Given the description of an element on the screen output the (x, y) to click on. 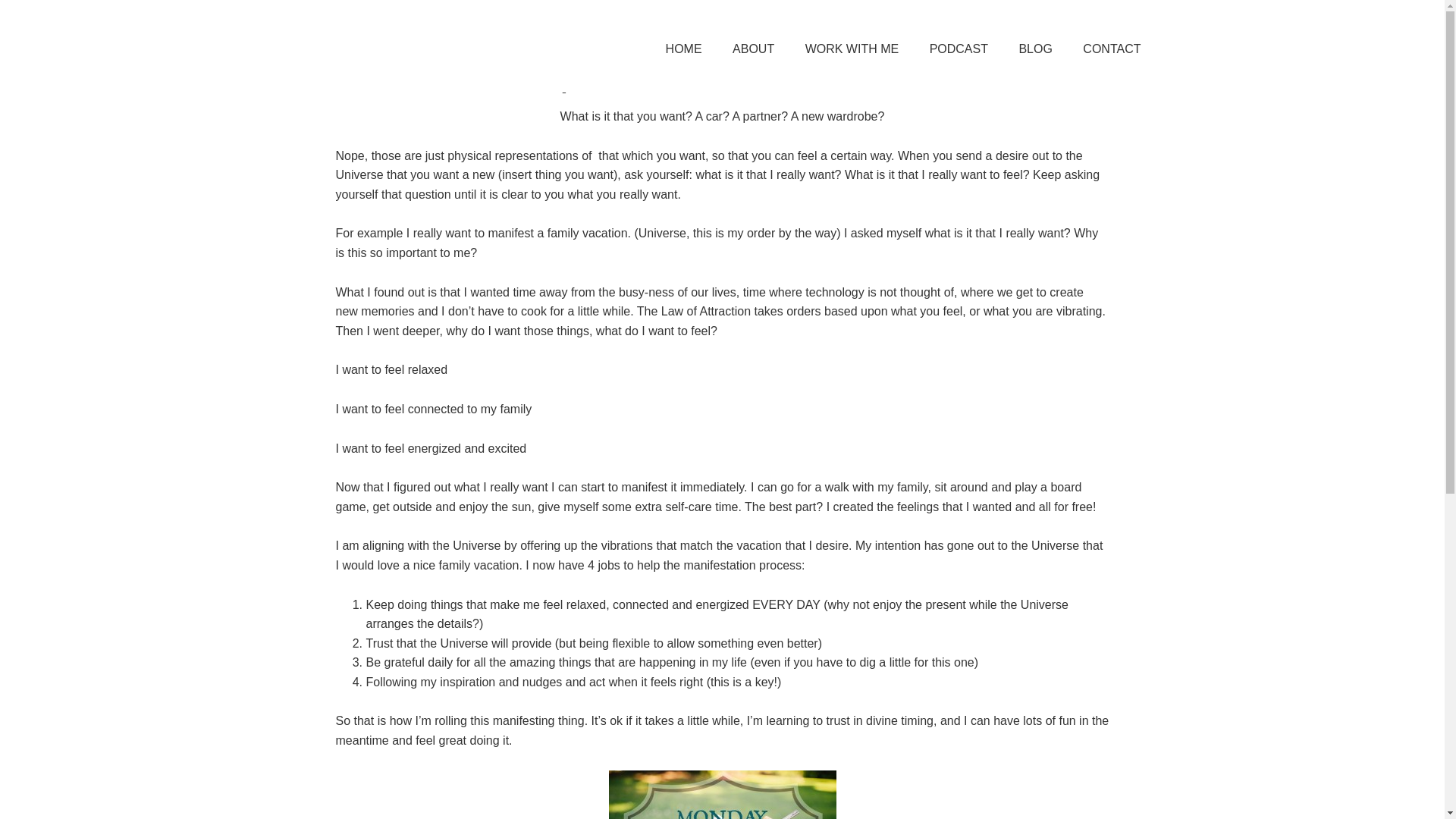
WORK WITH ME (852, 49)
PODCAST (958, 49)
ABOUT (753, 49)
TRACY (461, 39)
TRACY GAUDET Practical Ascension Guide (410, 45)
BLOG (1034, 49)
HOME (684, 49)
CONTACT (1111, 49)
